Given the description of an element on the screen output the (x, y) to click on. 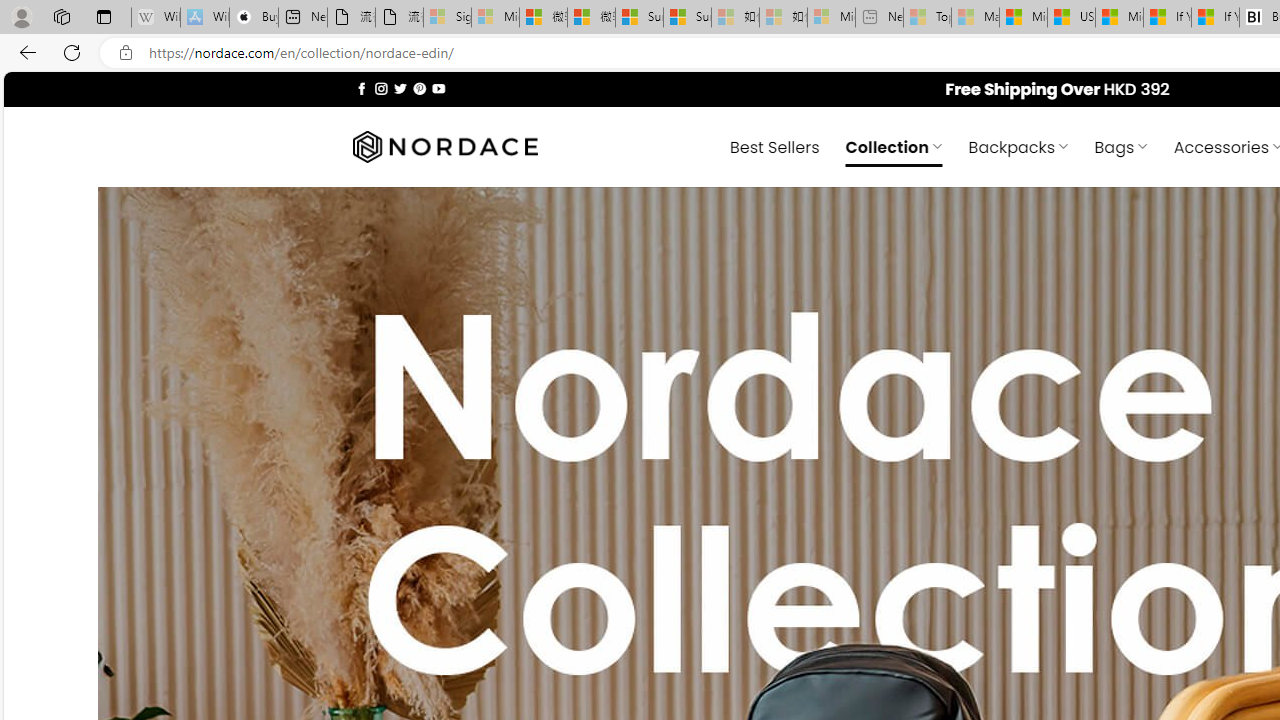
 Best Sellers (774, 146)
  Best Sellers (774, 146)
Top Stories - MSN - Sleeping (927, 17)
